Given the description of an element on the screen output the (x, y) to click on. 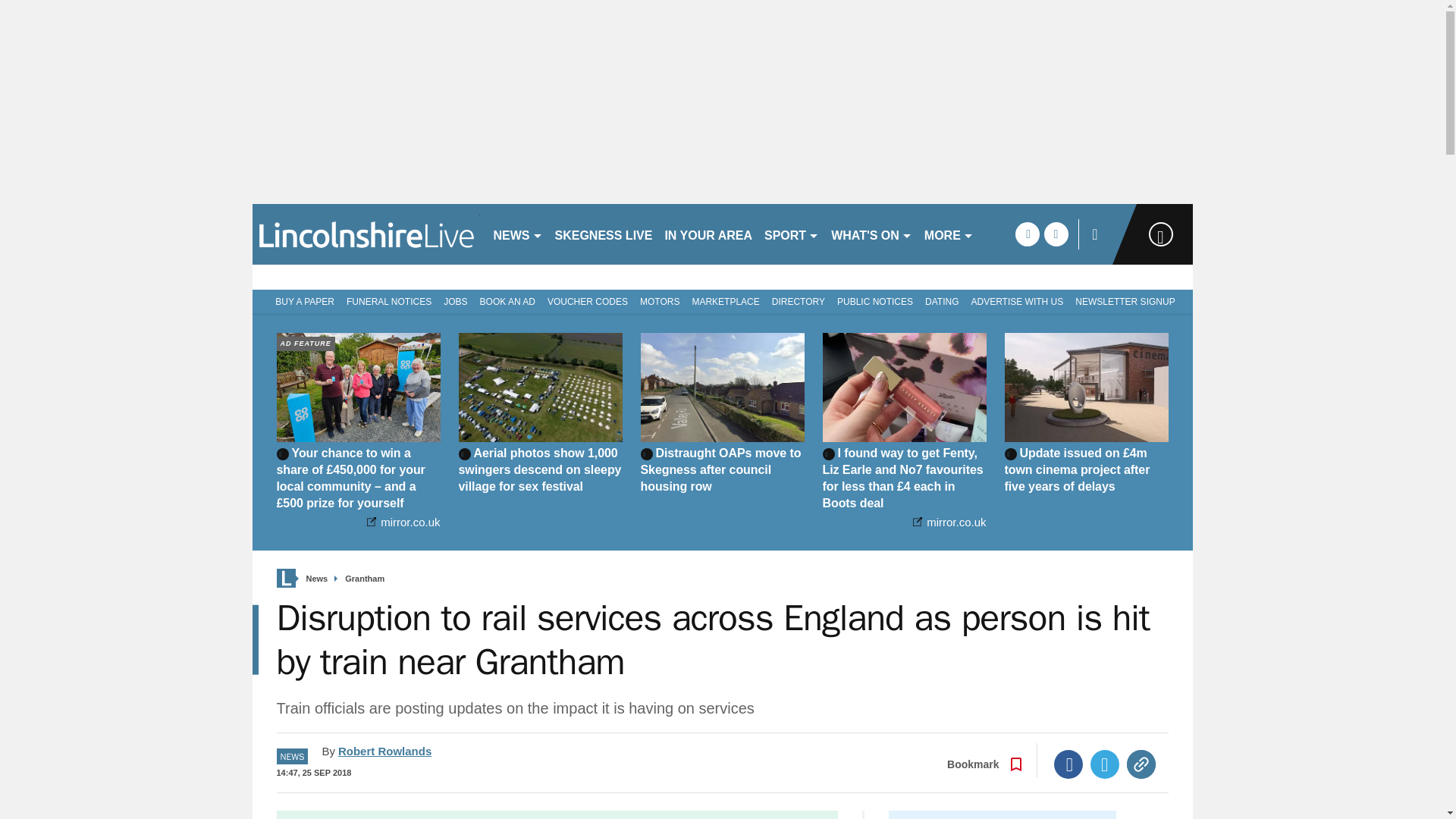
IN YOUR AREA (708, 233)
lincolnshirelive (365, 233)
twitter (1055, 233)
MORE (948, 233)
SPORT (791, 233)
SKEGNESS LIVE (603, 233)
BUY A PAPER (301, 300)
Facebook (1068, 764)
facebook (1026, 233)
Twitter (1104, 764)
NEWS (517, 233)
WHAT'S ON (871, 233)
